Given the description of an element on the screen output the (x, y) to click on. 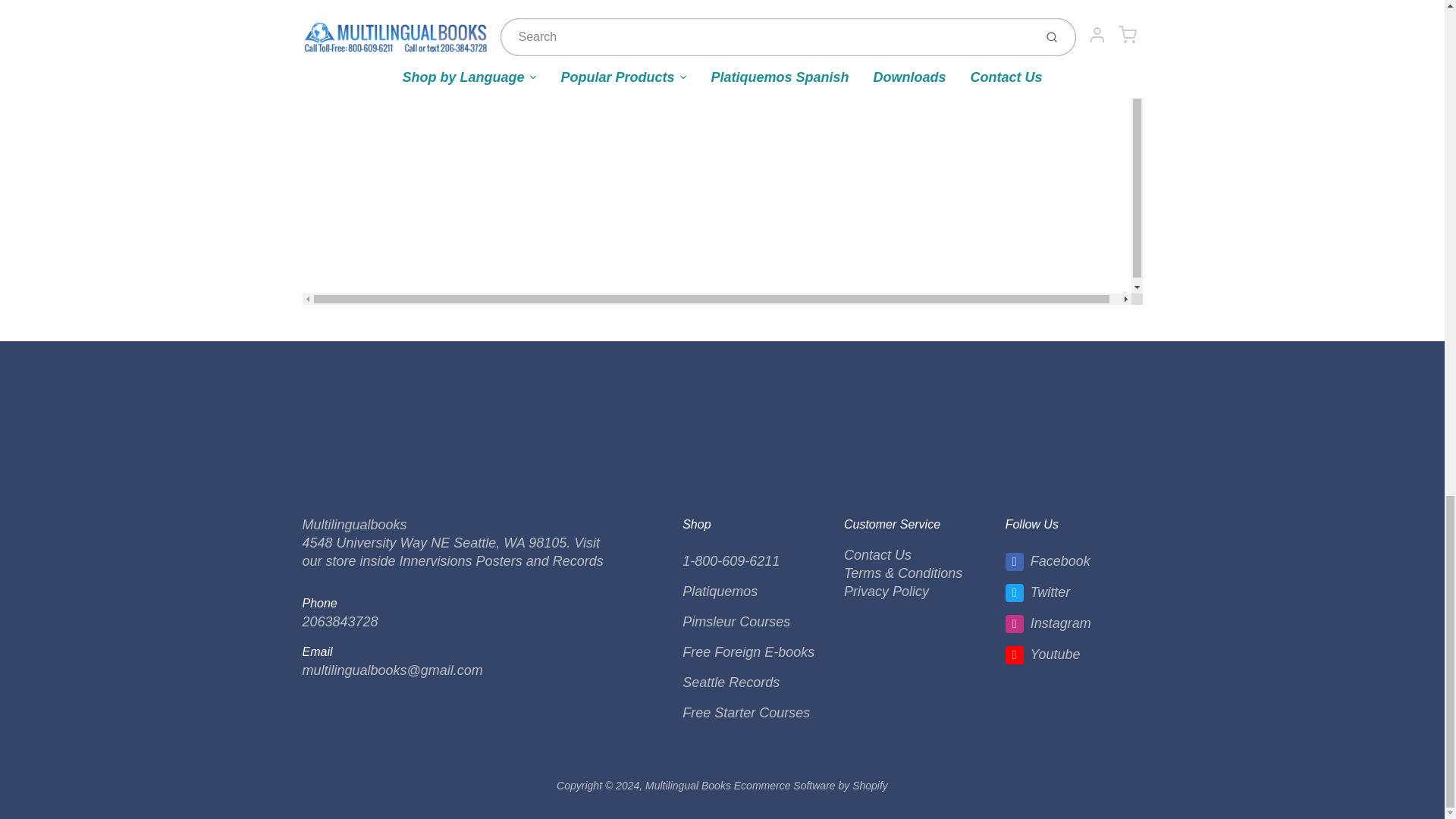
Privacy Policy (886, 590)
Terms of Service (903, 572)
